Given the description of an element on the screen output the (x, y) to click on. 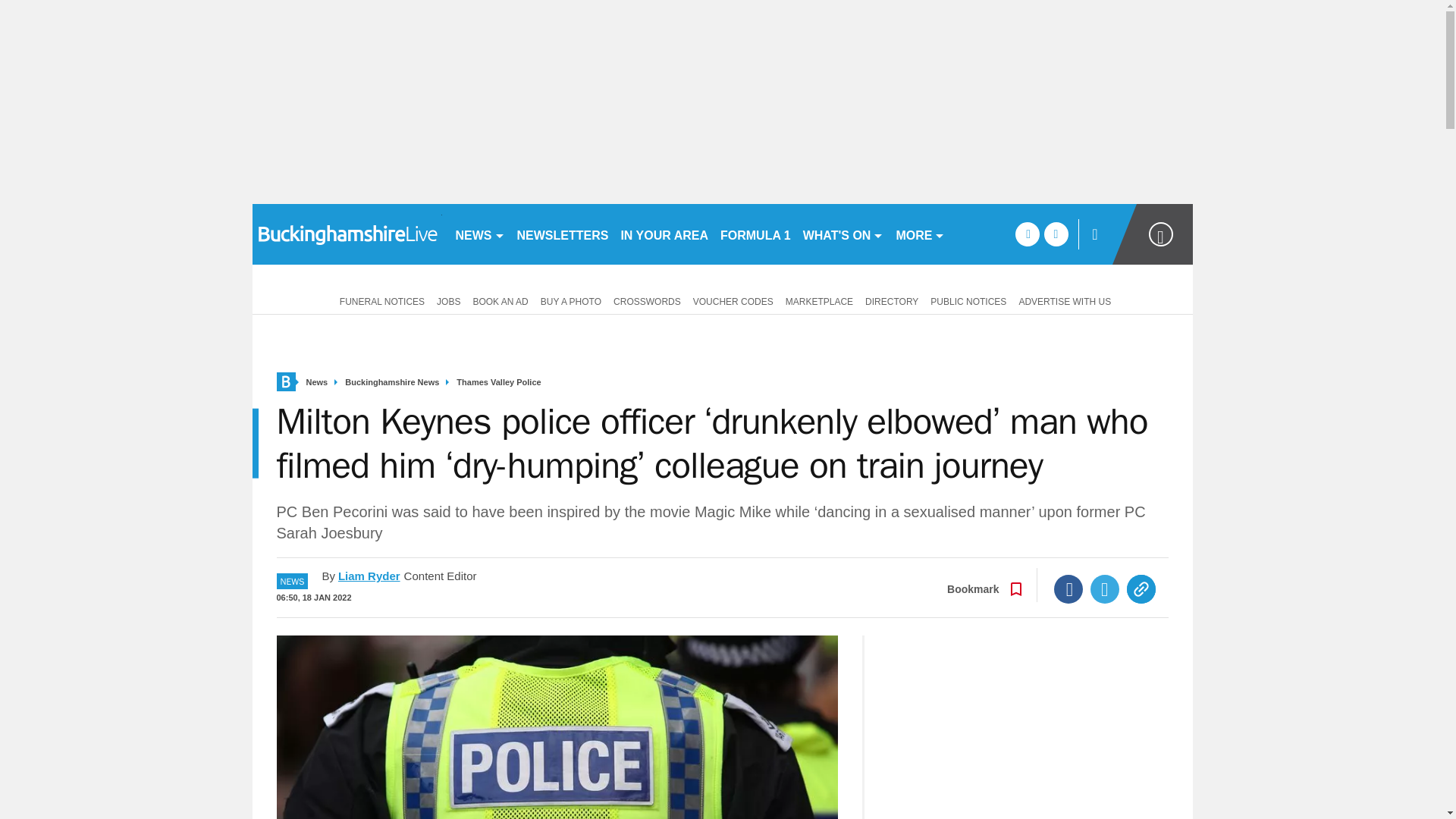
Twitter (1104, 588)
Home (285, 381)
FORMULA 1 (755, 233)
VOUCHER CODES (732, 300)
ADVERTISE WITH US (1063, 300)
twitter (1055, 233)
FUNERAL NOTICES (378, 300)
CROSSWORDS (647, 300)
Thames Valley Police (498, 382)
IN YOUR AREA (664, 233)
